Given the description of an element on the screen output the (x, y) to click on. 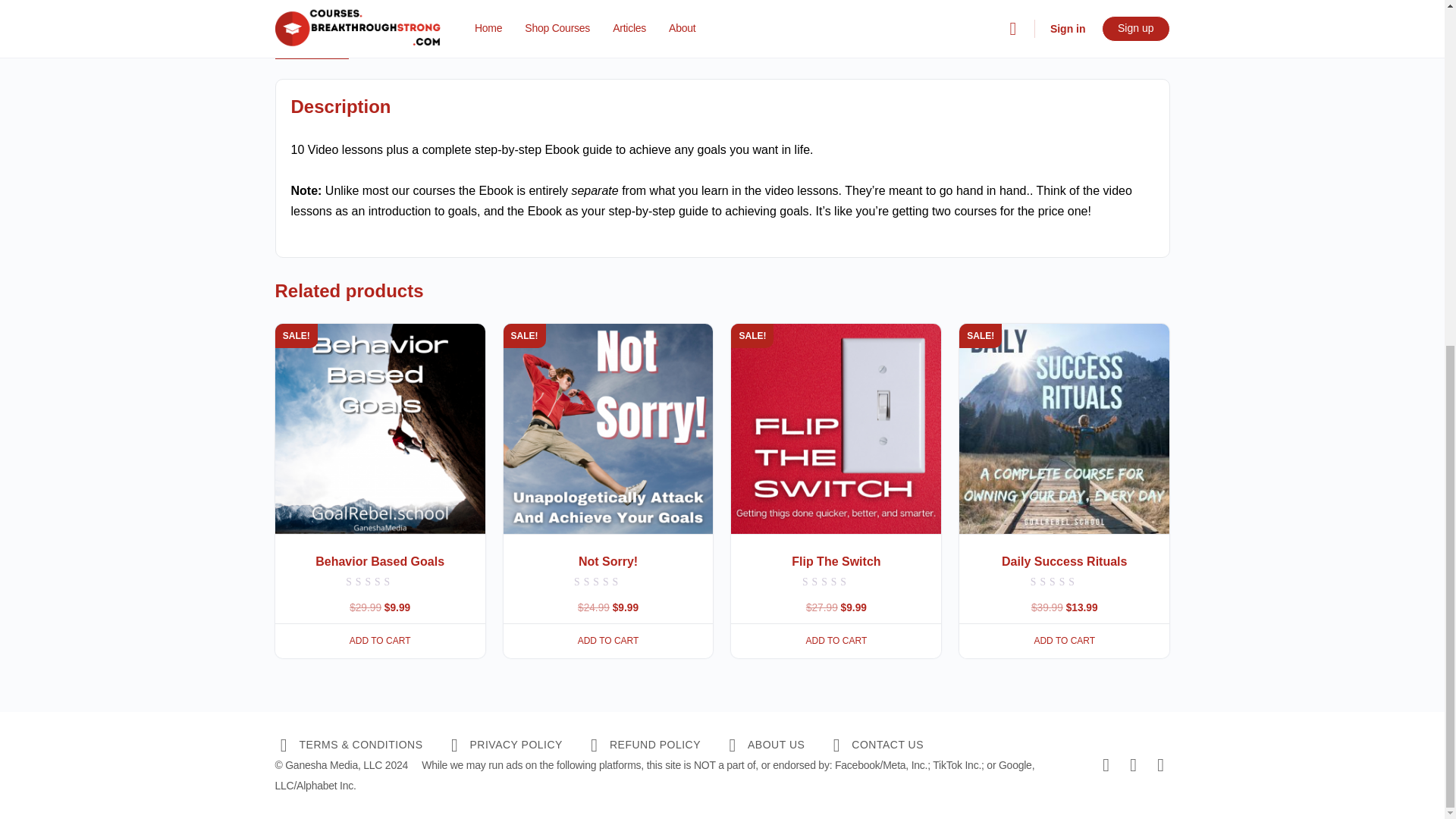
Reviews 0 (384, 42)
Description (309, 42)
ADD TO CART (608, 640)
ADD TO CART (379, 640)
